Given the description of an element on the screen output the (x, y) to click on. 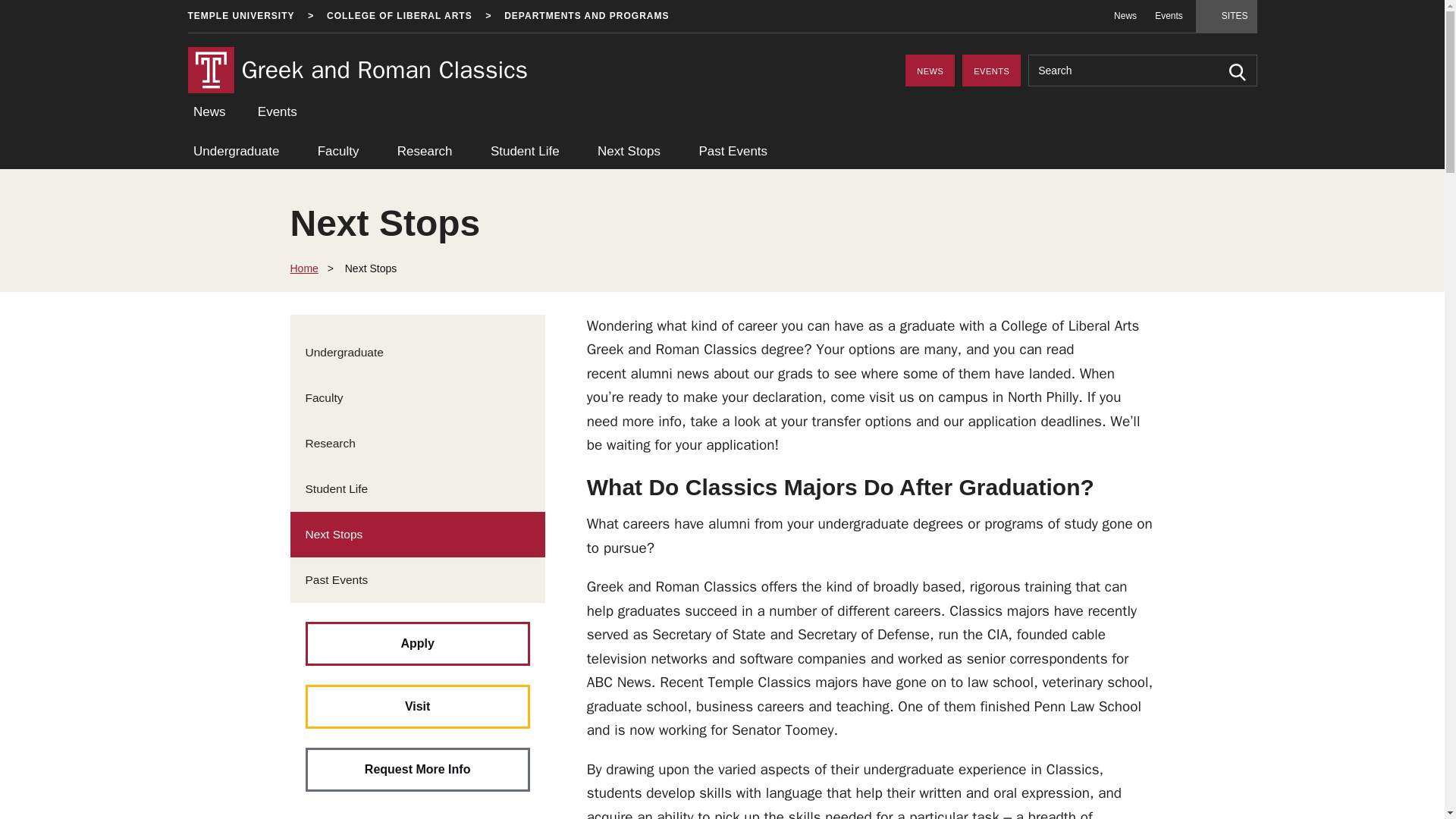
EVENTS (991, 70)
Greek and Roman Classics (384, 69)
DEPARTMENTS AND PROGRAMS (585, 16)
NEWS (930, 70)
TEMPLE UNIVERSITY (241, 16)
Search (1236, 72)
SITES (1226, 16)
COLLEGE OF LIBERAL ARTS (398, 16)
Link to homepage (210, 69)
Link to the Greek and Roman Classics landing page (384, 69)
